Given the description of an element on the screen output the (x, y) to click on. 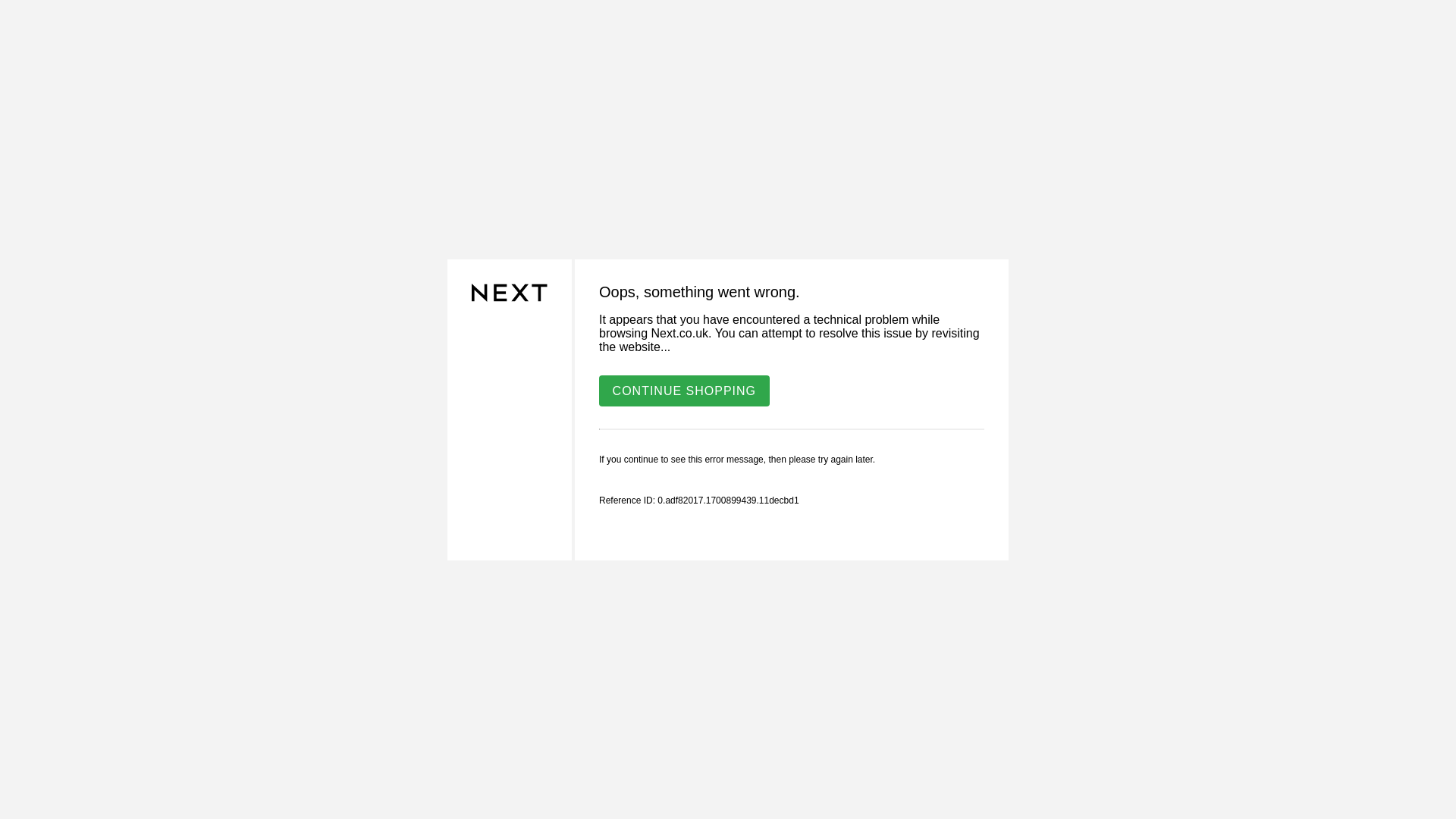
CONTINUE SHOPPING Element type: text (684, 389)
